Given the description of an element on the screen output the (x, y) to click on. 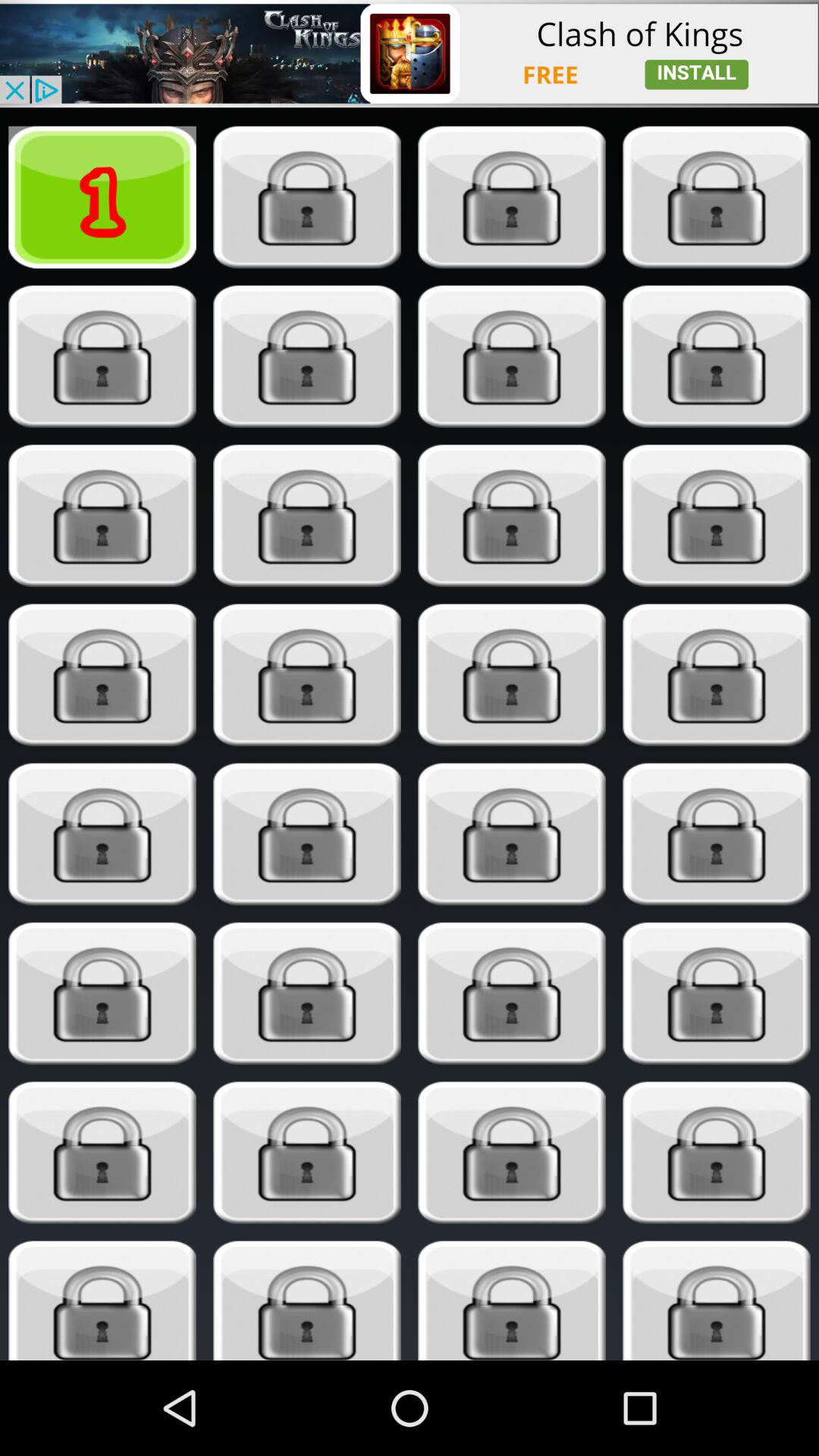
locked level (102, 1152)
